Given the description of an element on the screen output the (x, y) to click on. 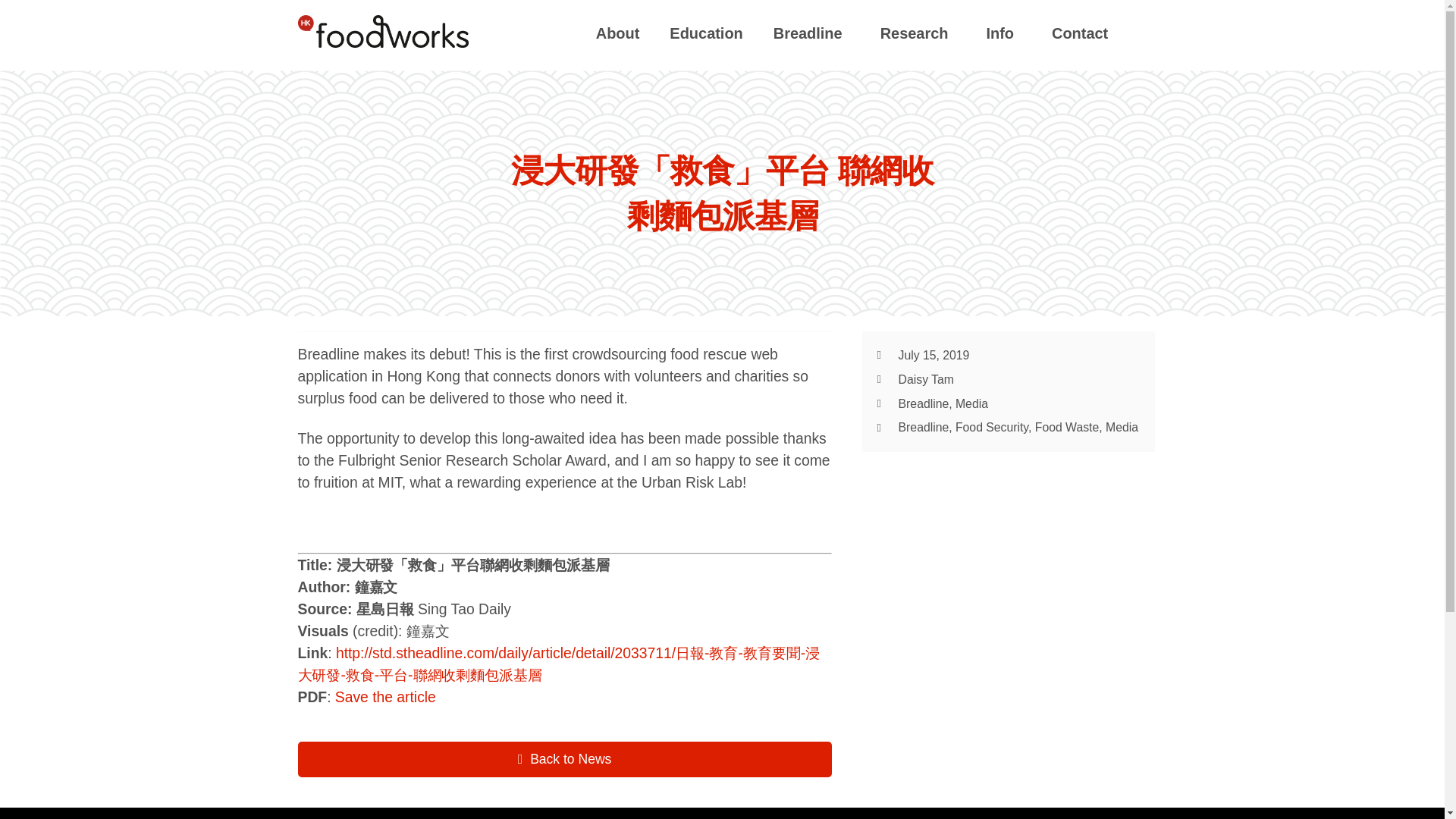
Education (705, 32)
Research (917, 32)
Breadline (811, 32)
Info (1003, 32)
About (617, 32)
Contact (1079, 32)
